Given the description of an element on the screen output the (x, y) to click on. 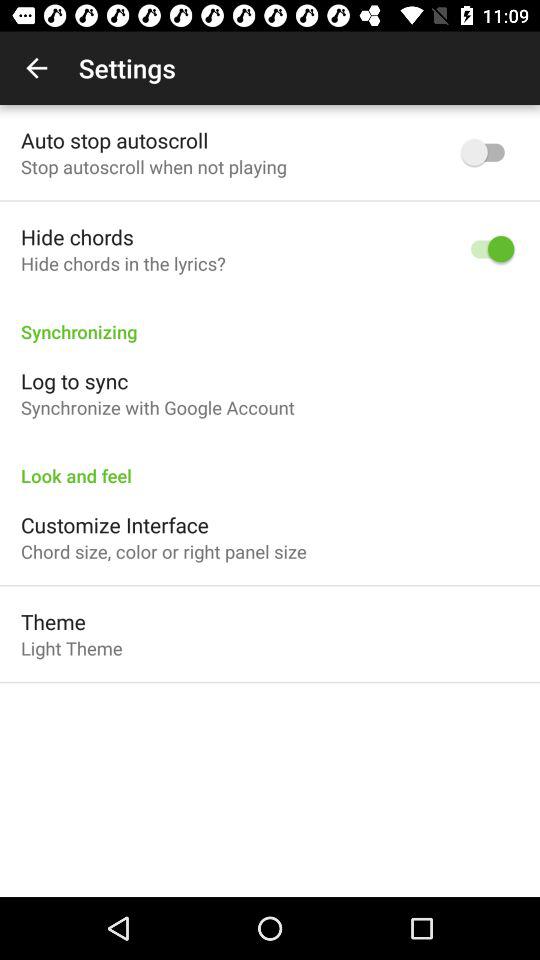
open customize interface (114, 524)
